Given the description of an element on the screen output the (x, y) to click on. 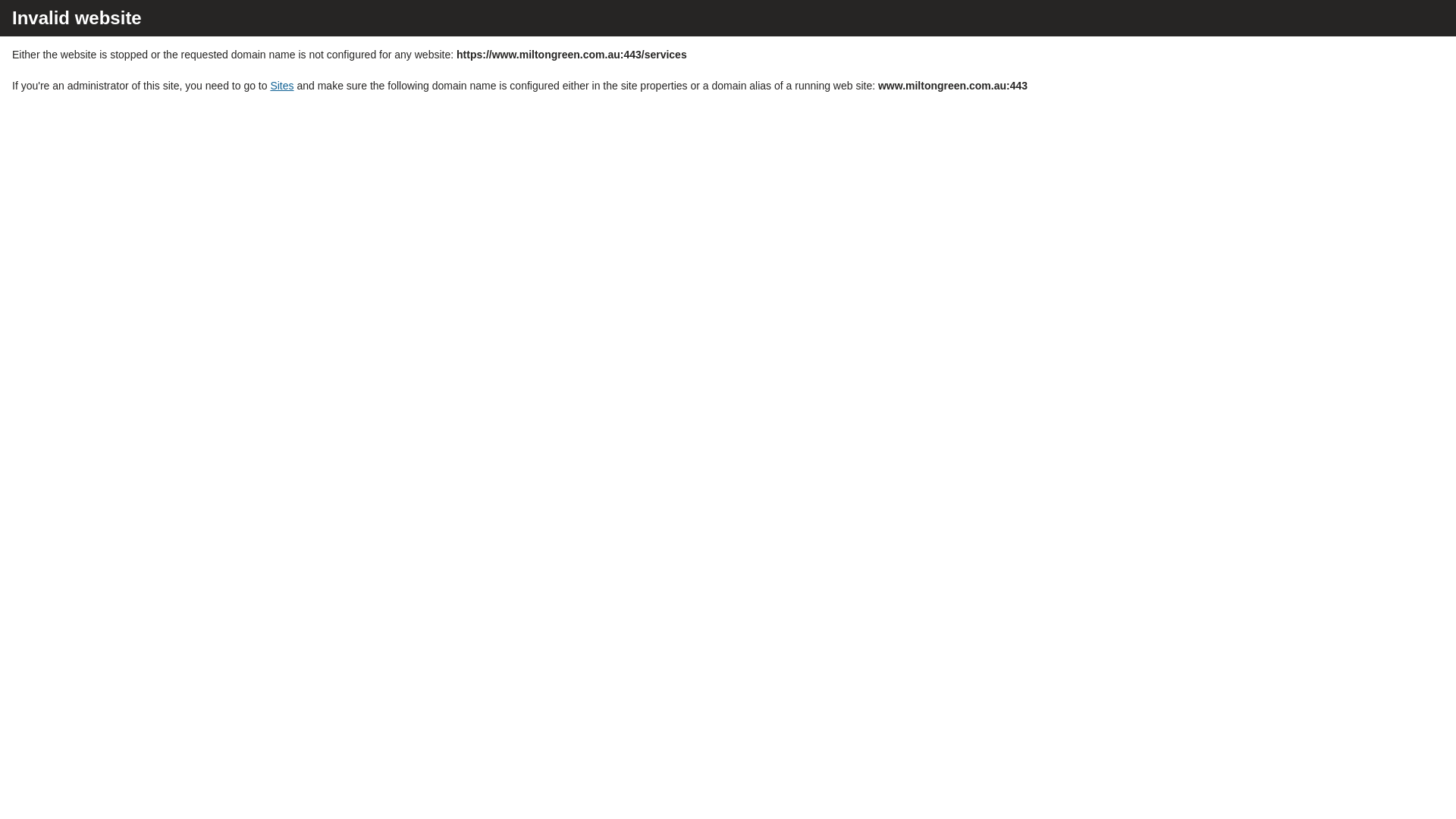
Sites Element type: text (281, 85)
